Given the description of an element on the screen output the (x, y) to click on. 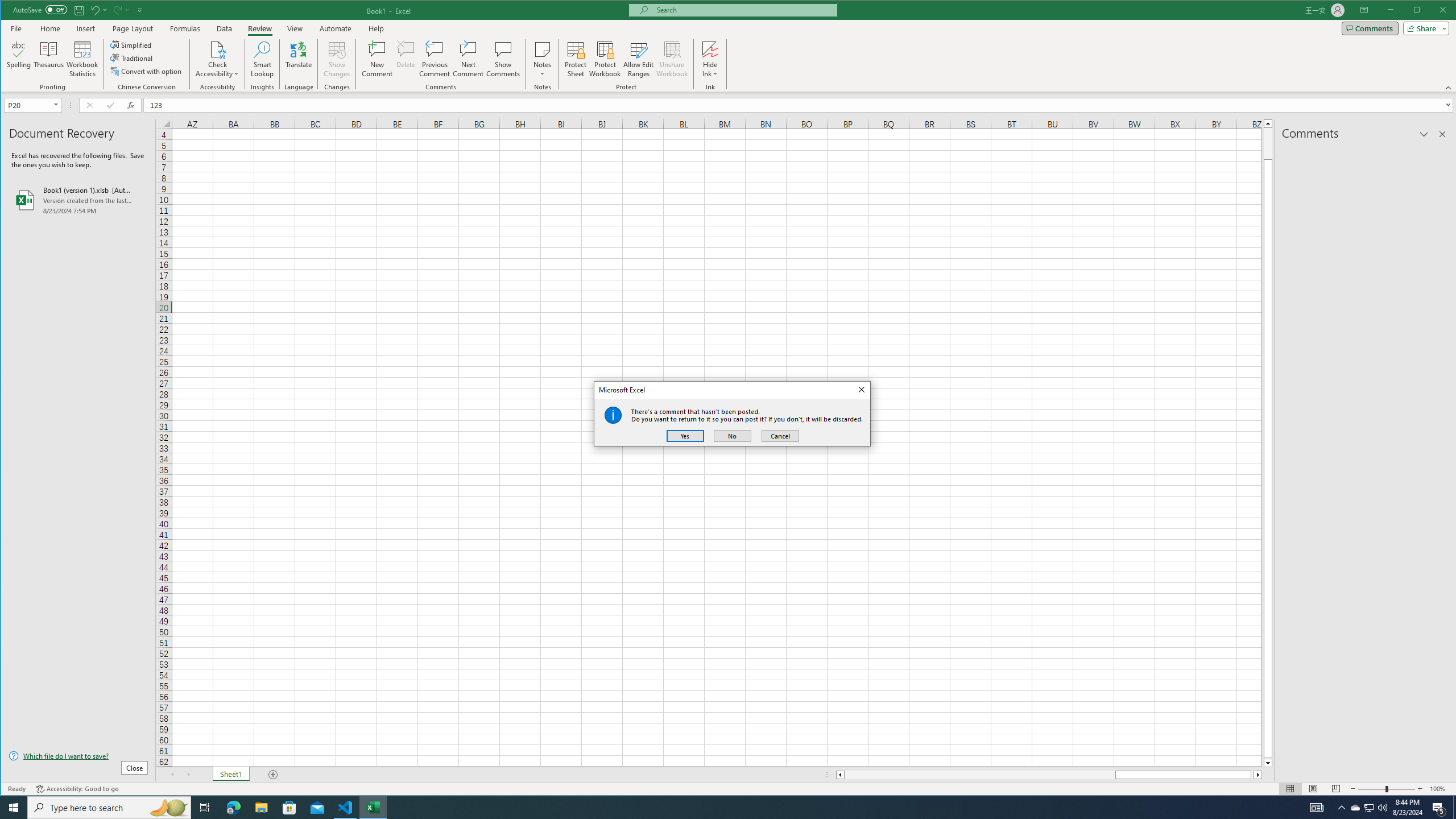
Book1 (version 1).xlsb  [AutoRecovered] (78, 199)
Q2790: 100% (1382, 807)
New Comment (1355, 807)
Task View (377, 59)
Visual Studio Code - 1 running window (204, 807)
Convert with option (345, 807)
Smart Lookup (146, 70)
